Given the description of an element on the screen output the (x, y) to click on. 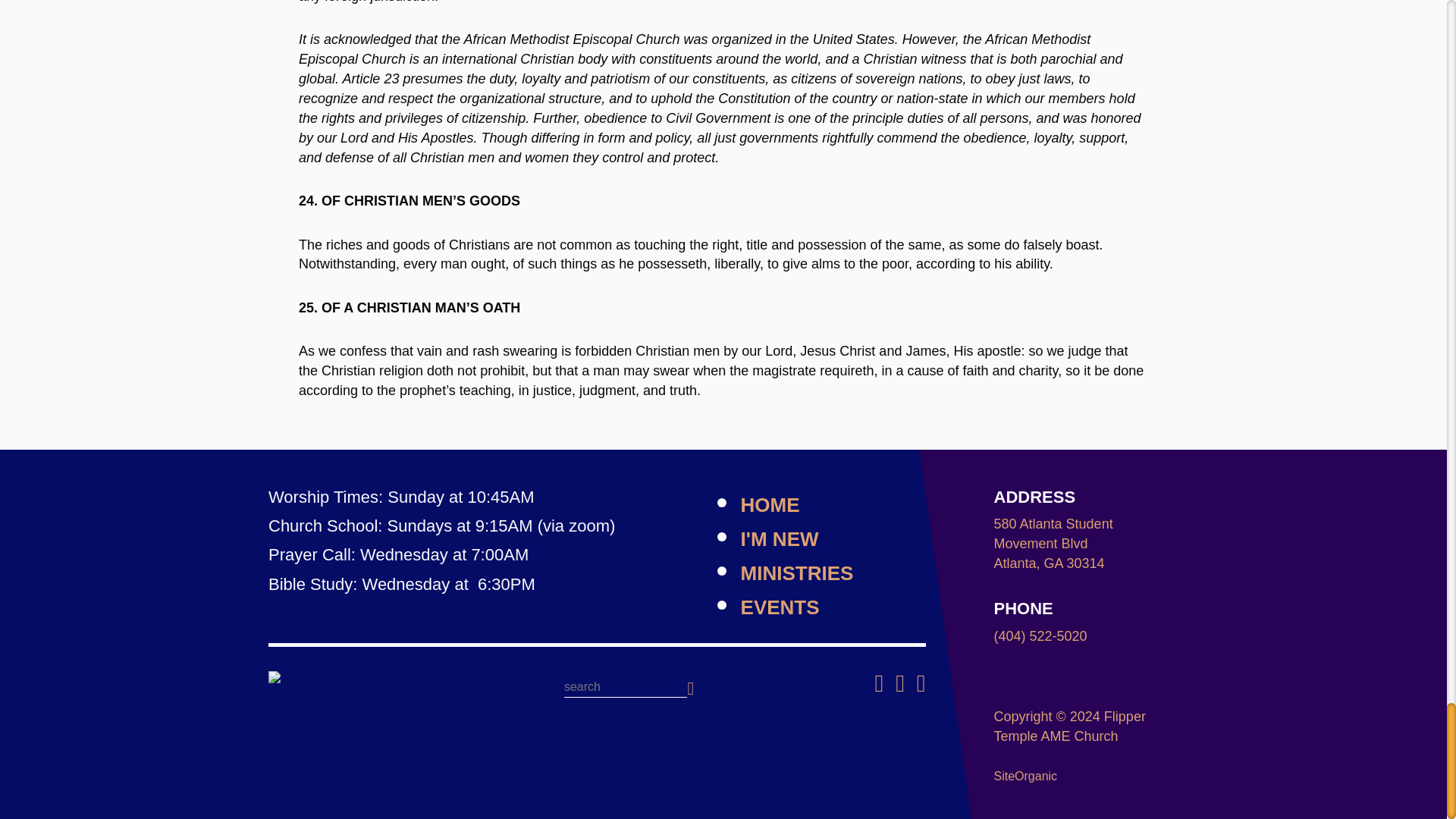
Ministries (797, 572)
Home (366, 676)
Home (770, 504)
SiteOrganic (1026, 775)
I'm New (779, 538)
Events (780, 607)
